Given the description of an element on the screen output the (x, y) to click on. 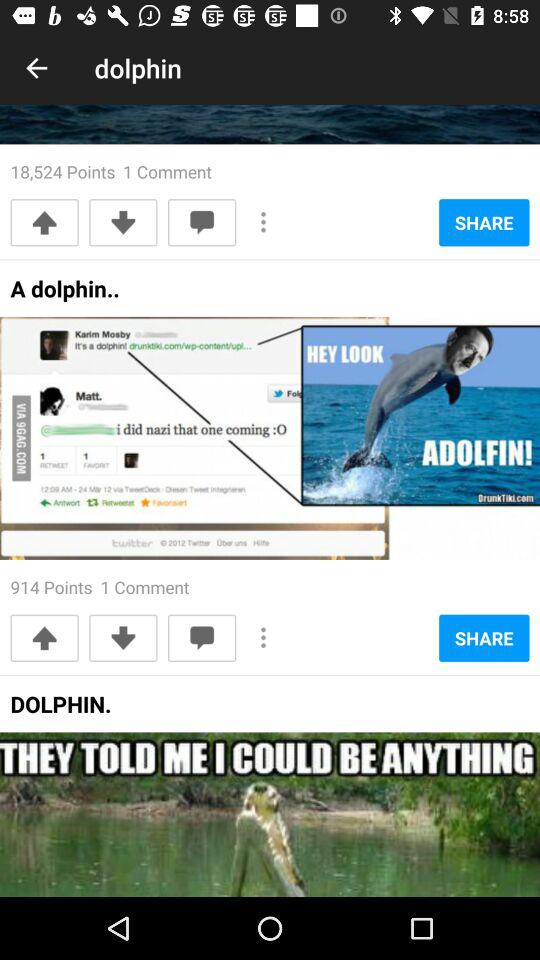
scroll to a dolphin.. item (64, 294)
